Given the description of an element on the screen output the (x, y) to click on. 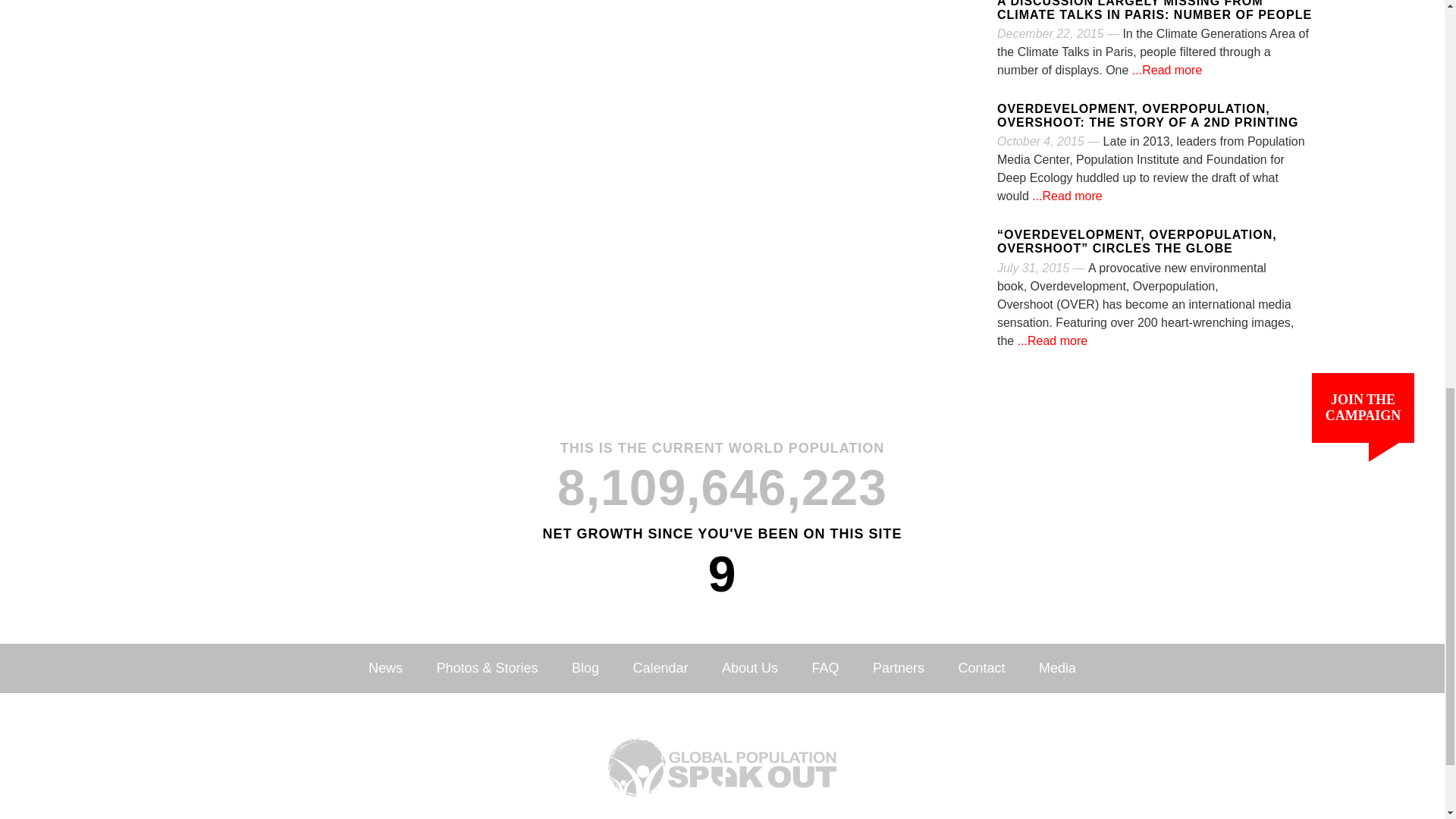
News (385, 667)
Media (1057, 667)
Partners (898, 667)
Contact (981, 667)
Calendar (659, 667)
Blog (585, 667)
...Read more (1050, 340)
...Read more (1165, 69)
...Read more (1065, 195)
FAQ (824, 667)
About Us (749, 667)
